Given the description of an element on the screen output the (x, y) to click on. 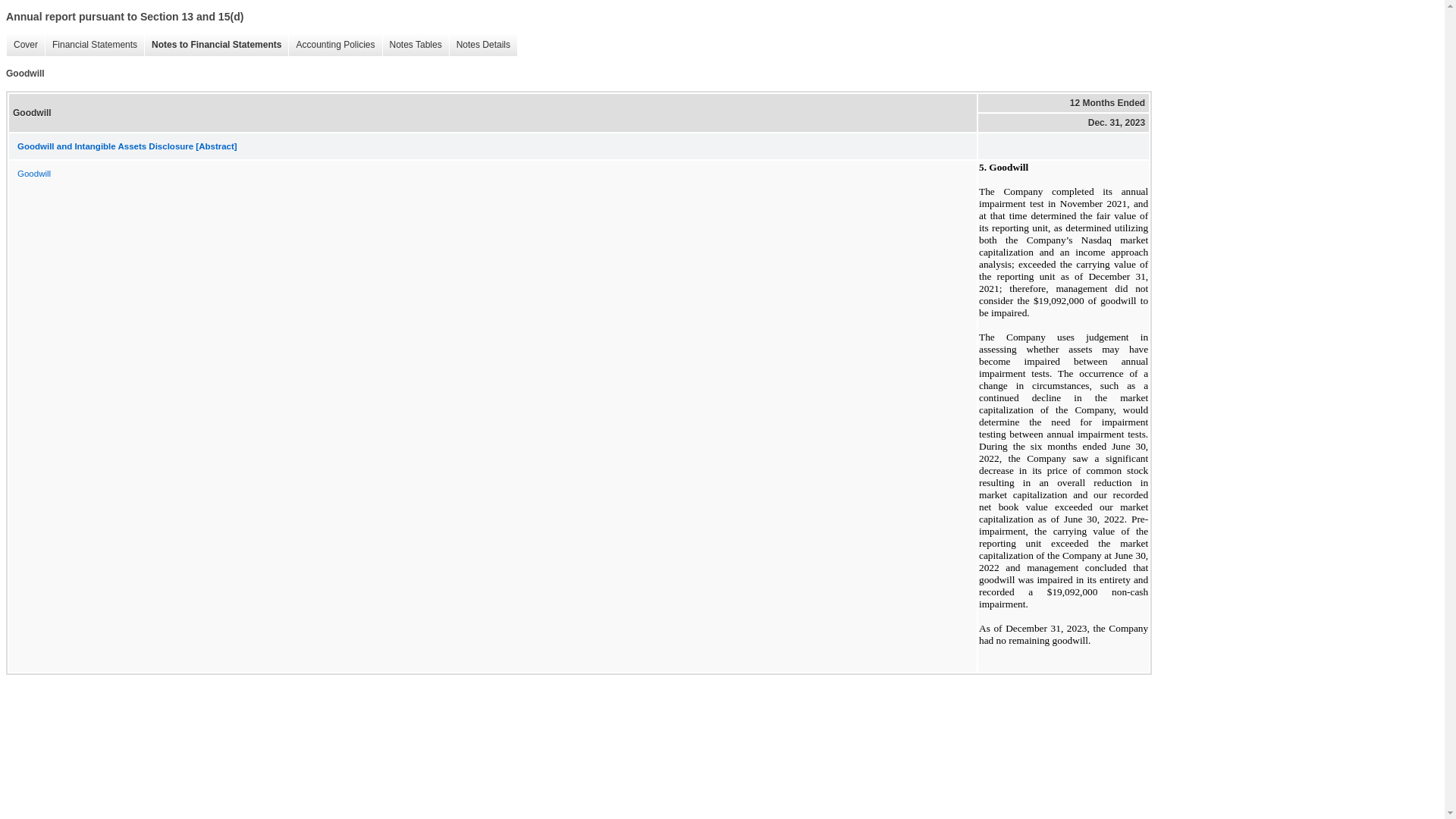
Goodwill::XDX::- (1000, 640)
Goodwill (1061, 300)
Non-cash impairment (1074, 591)
